Given the description of an element on the screen output the (x, y) to click on. 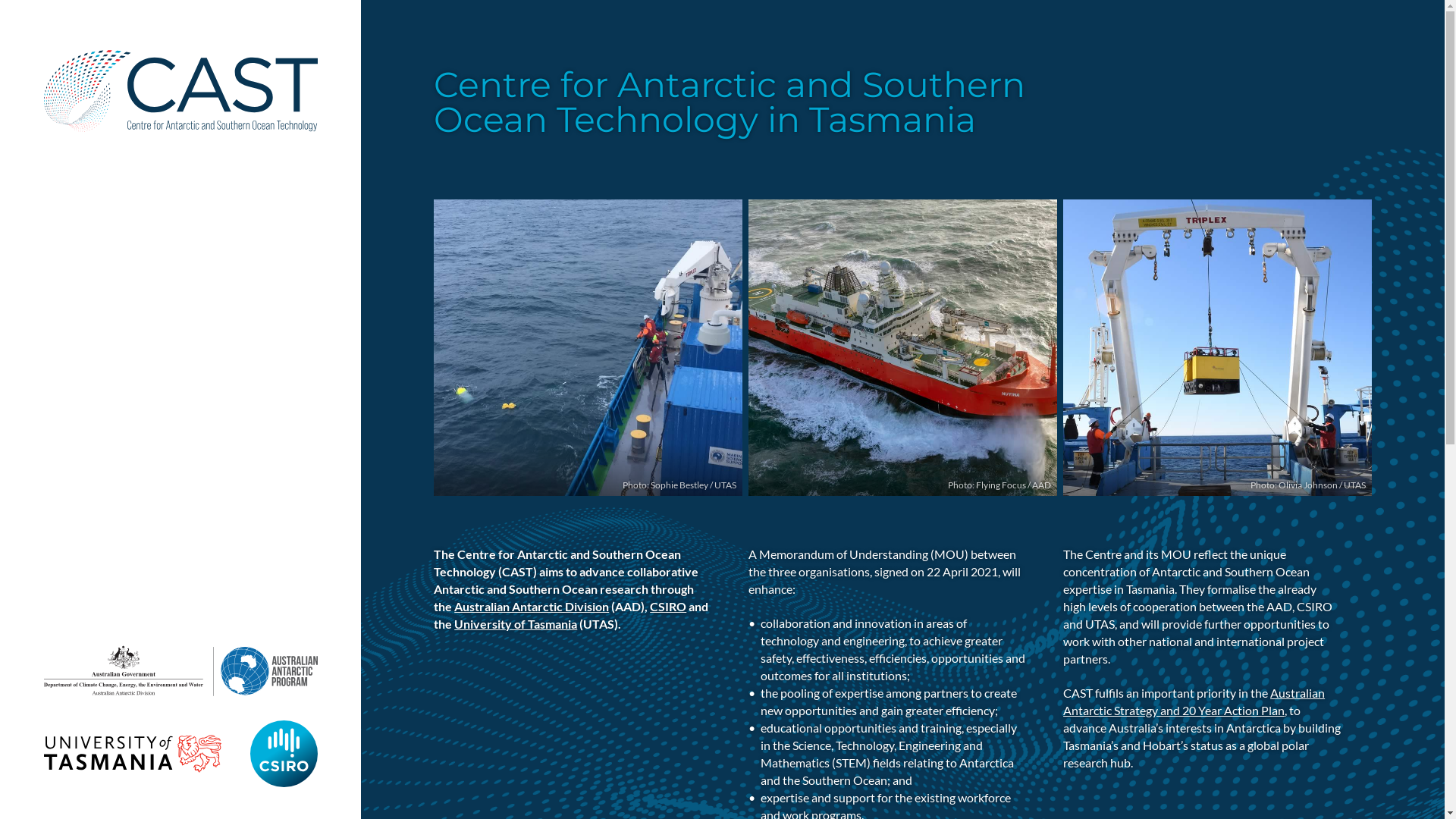
University of Tasmania Element type: text (515, 623)
CSIRO Element type: text (667, 606)
Australian Antarctic Strategy and 20 Year Action Plan Element type: text (1193, 701)
Australian Antarctic Division Element type: text (531, 606)
